Given the description of an element on the screen output the (x, y) to click on. 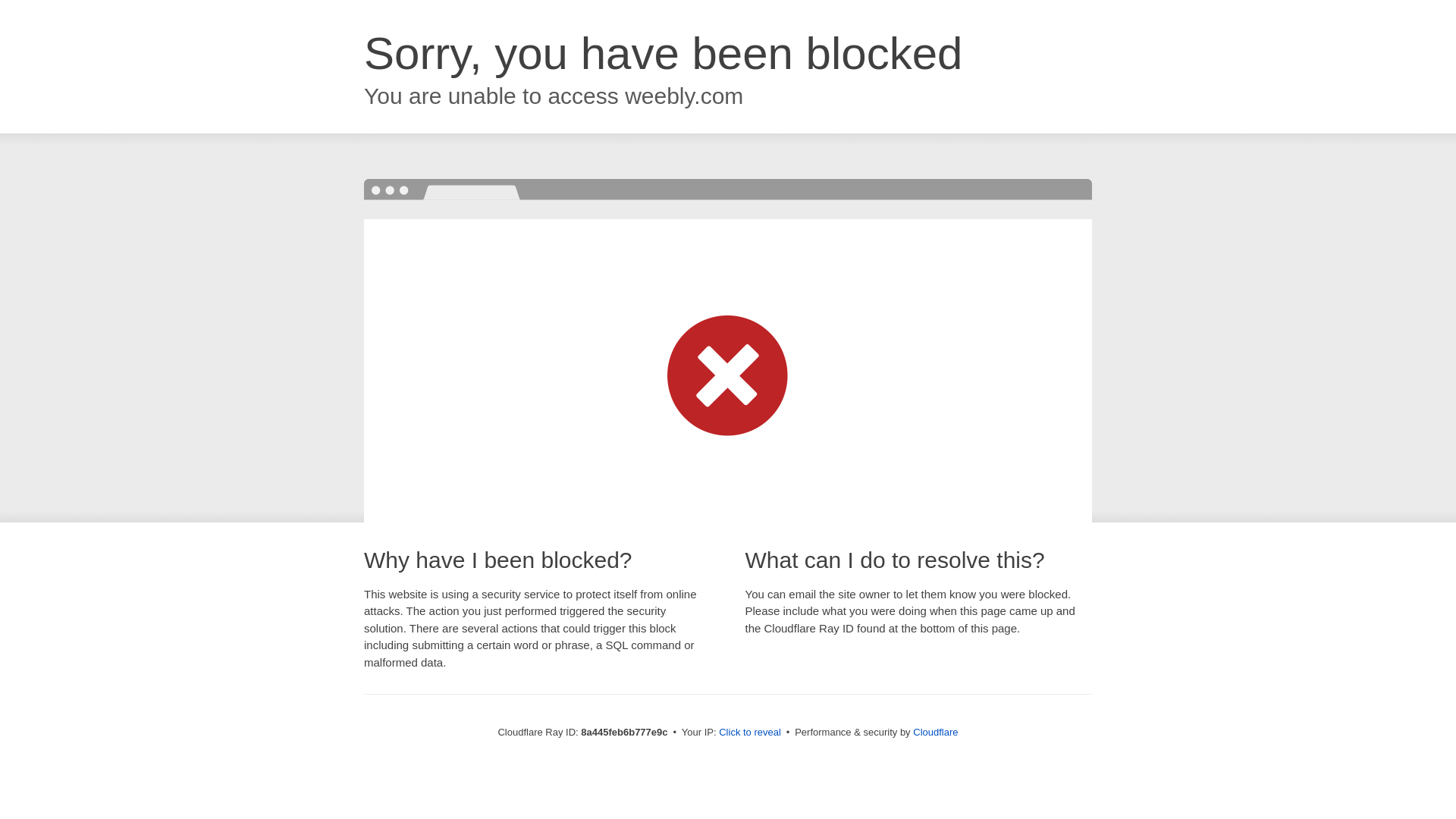
Click to reveal (749, 732)
Cloudflare (935, 731)
